Given the description of an element on the screen output the (x, y) to click on. 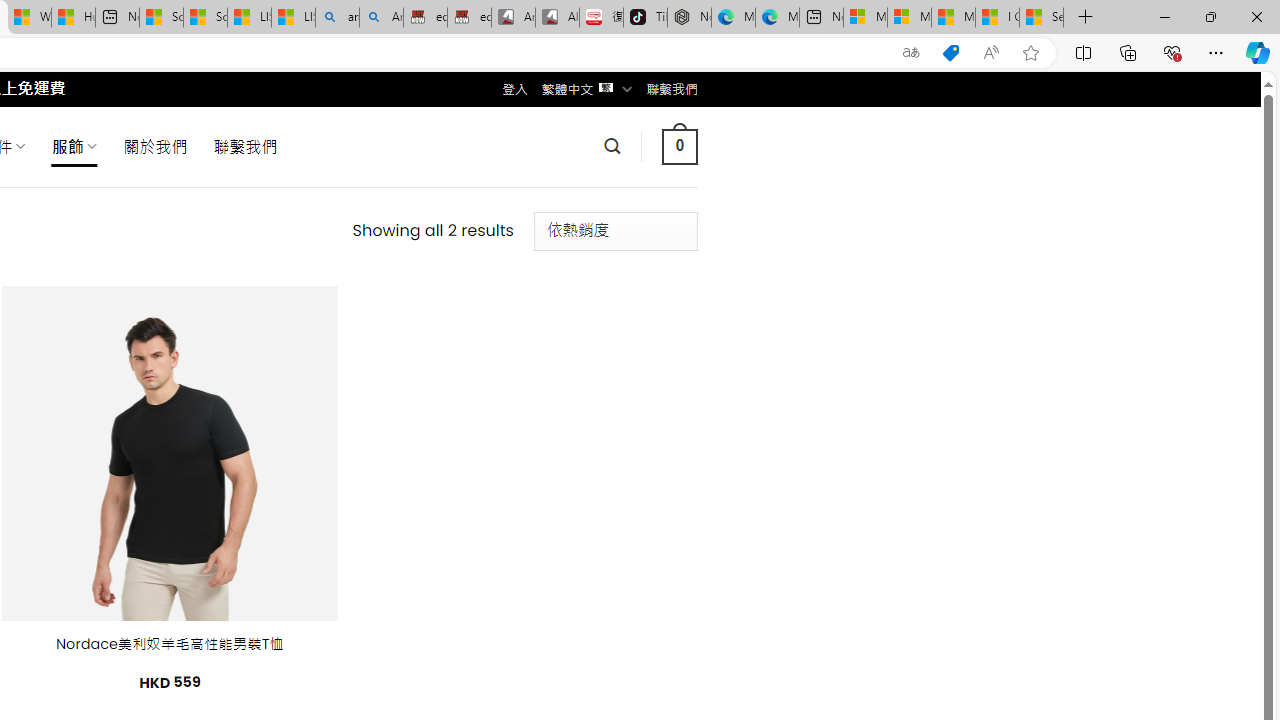
I Gained 20 Pounds of Muscle in 30 Days! | Watch (996, 17)
This site has coupons! Shopping in Microsoft Edge (950, 53)
All Cubot phones (557, 17)
amazon - Search (337, 17)
TikTok (644, 17)
Nordace - Best Sellers (689, 17)
